Given the description of an element on the screen output the (x, y) to click on. 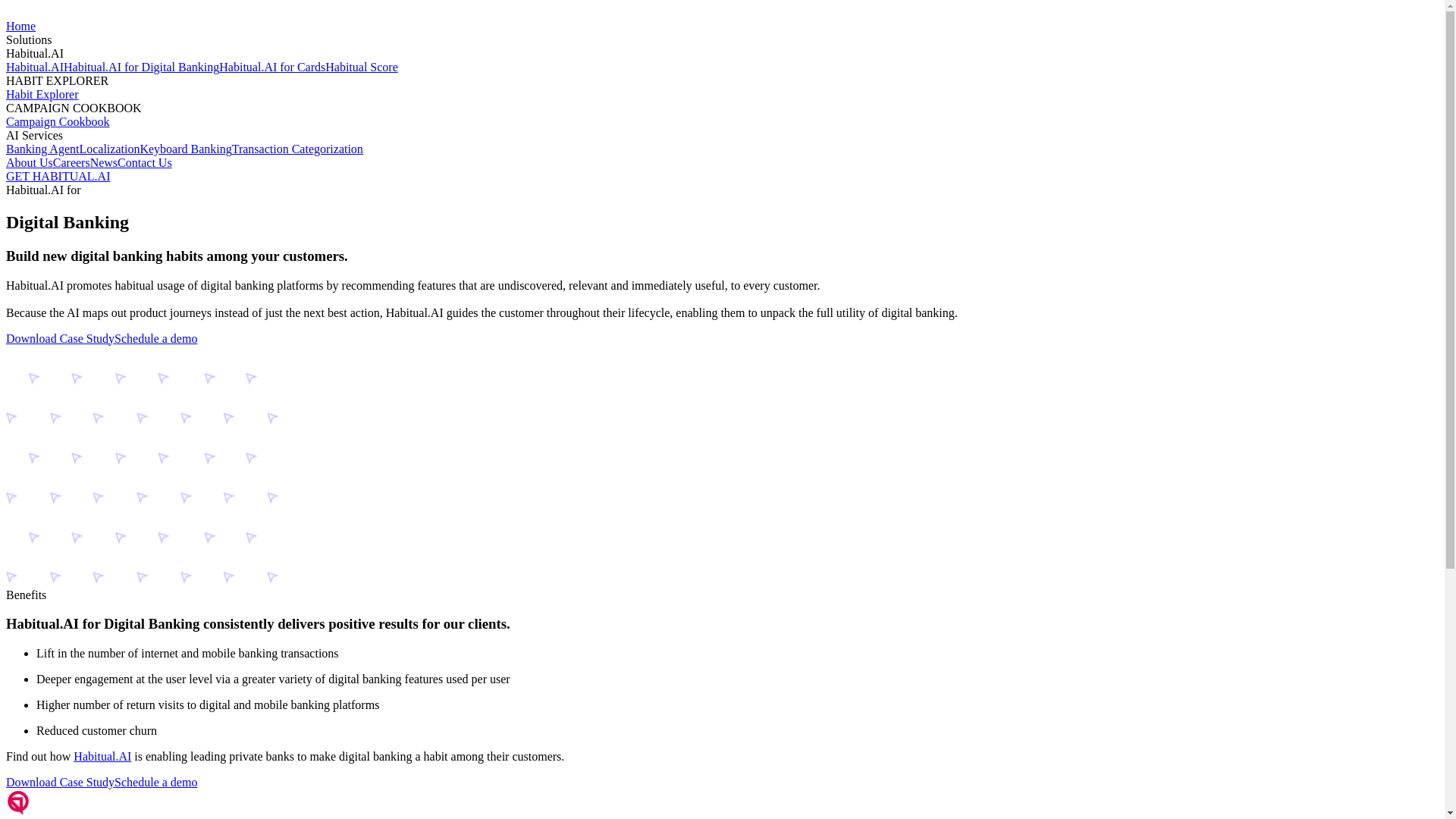
Habitual.AI for Digital Banking Element type: text (141, 66)
Contact Us Element type: text (144, 162)
Habitual.AI Element type: text (34, 66)
News Element type: text (103, 162)
Keyboard Banking Element type: text (185, 148)
Home Element type: text (20, 25)
Banking Agent Element type: text (42, 148)
Localization Element type: text (108, 148)
Schedule a demo Element type: text (155, 338)
Download Case Study Element type: text (60, 338)
Transaction Categorization Element type: text (297, 148)
Campaign Cookbook Element type: text (57, 121)
Habitual.AI Element type: text (102, 755)
Habitual Score Element type: text (361, 66)
About Us Element type: text (29, 162)
Habitual.AI for Cards Element type: text (272, 66)
GET HABITUAL.AI Element type: text (57, 175)
Careers Element type: text (71, 162)
Habit Explorer Element type: text (42, 93)
Download Case Study Element type: text (60, 781)
Schedule a demo Element type: text (155, 781)
